Given the description of an element on the screen output the (x, y) to click on. 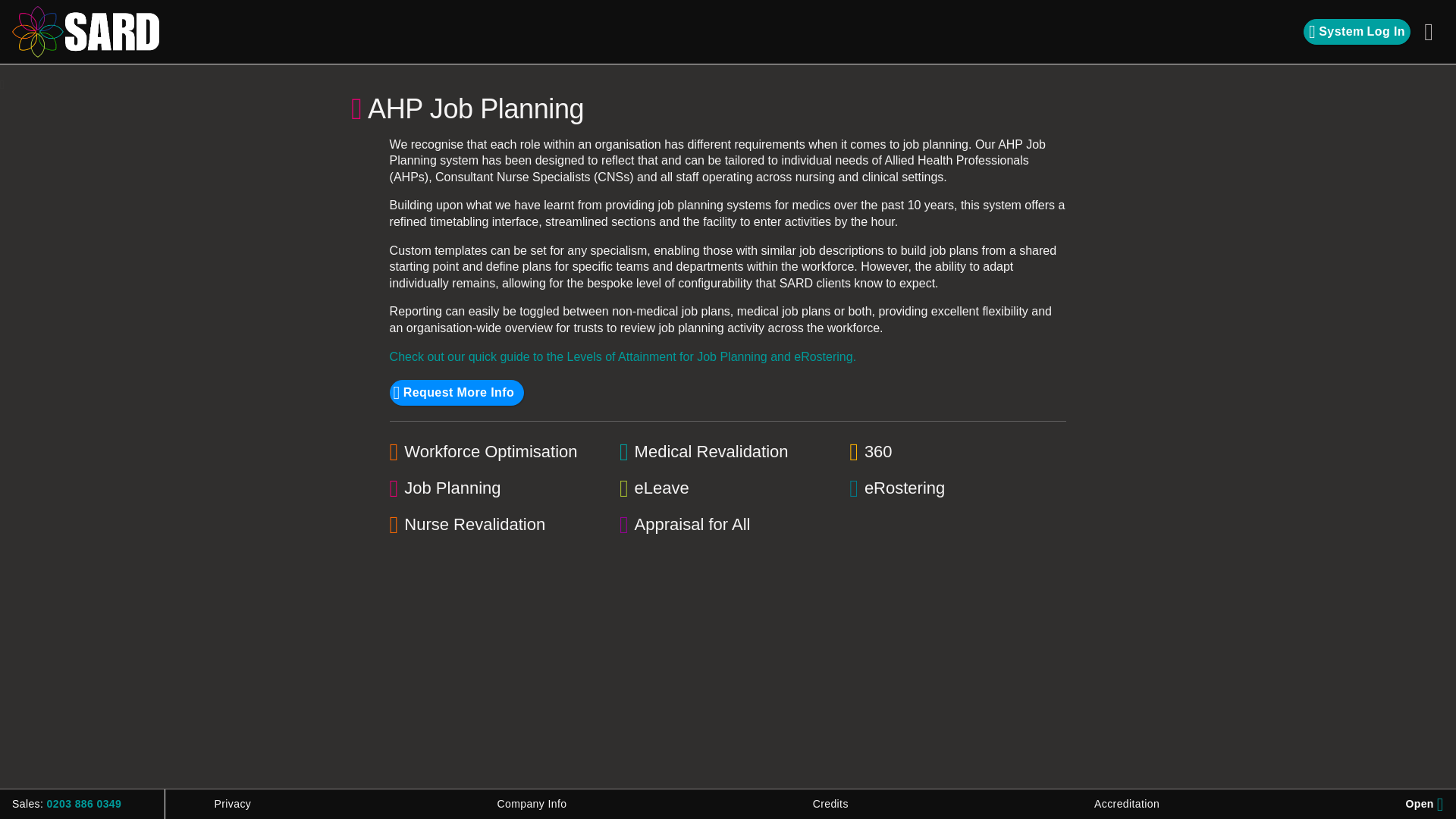
Request More Info (457, 392)
eLeave (727, 487)
Workforce Optimisation (497, 451)
Nurse Revalidation (497, 524)
360 (956, 451)
Appraisal for All (727, 524)
Medical Revalidation (1356, 31)
eRostering (727, 451)
